Given the description of an element on the screen output the (x, y) to click on. 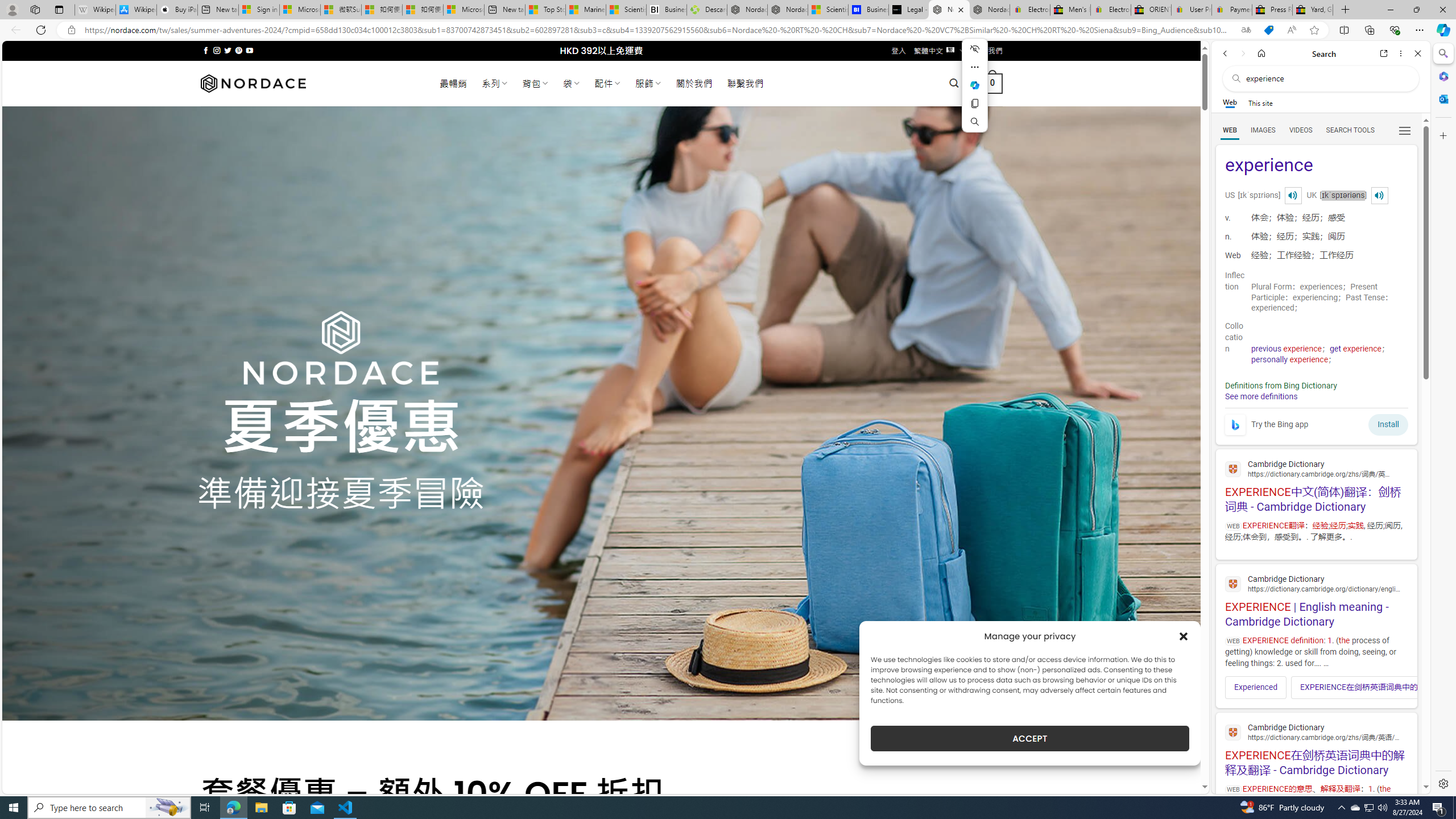
Follow on Instagram (216, 50)
